Given the description of an element on the screen output the (x, y) to click on. 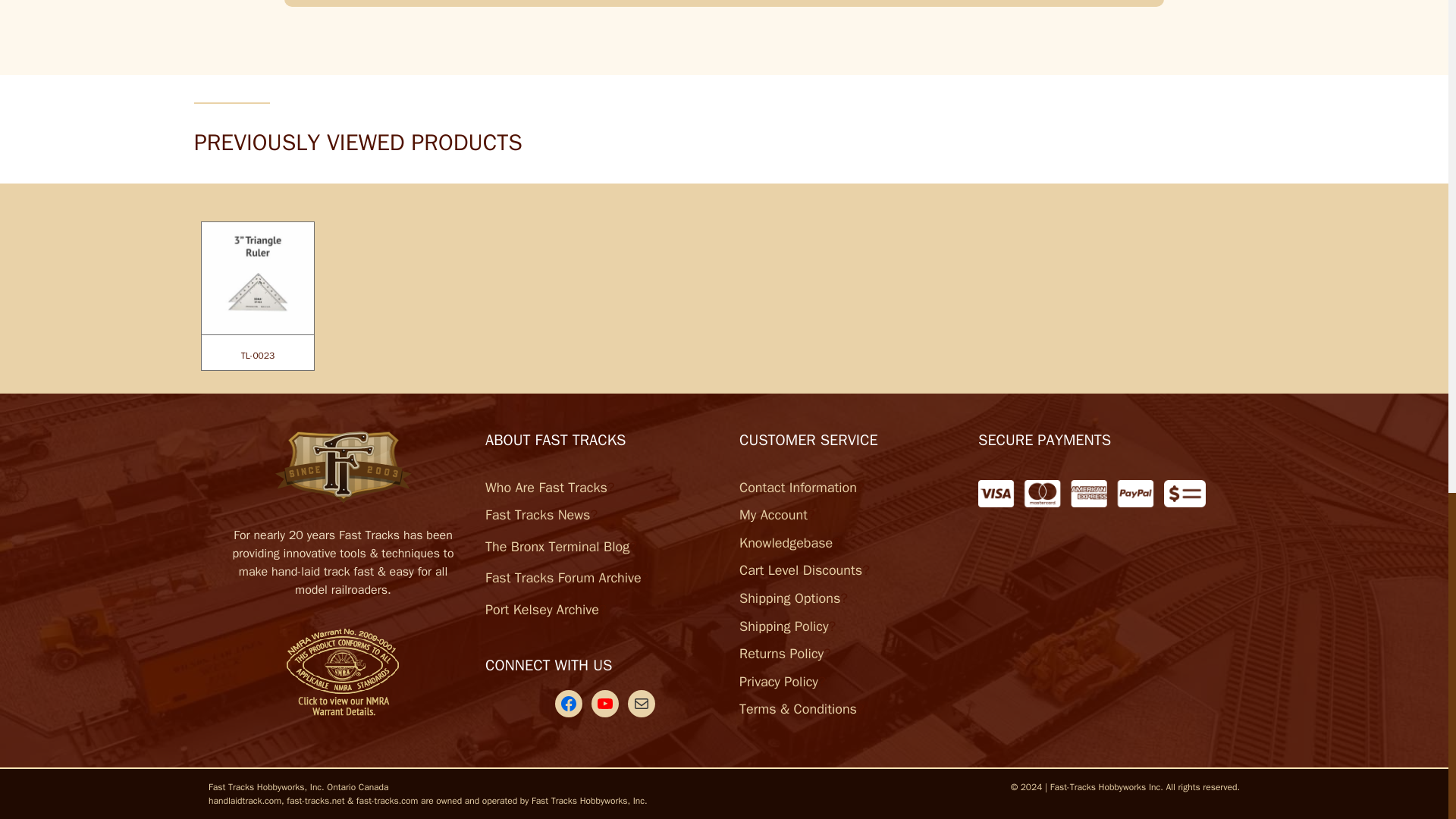
FT Logo 2022 (342, 467)
secure payments2 (1091, 493)
View Fast Tracks NMRA Warrant (343, 668)
